Given the description of an element on the screen output the (x, y) to click on. 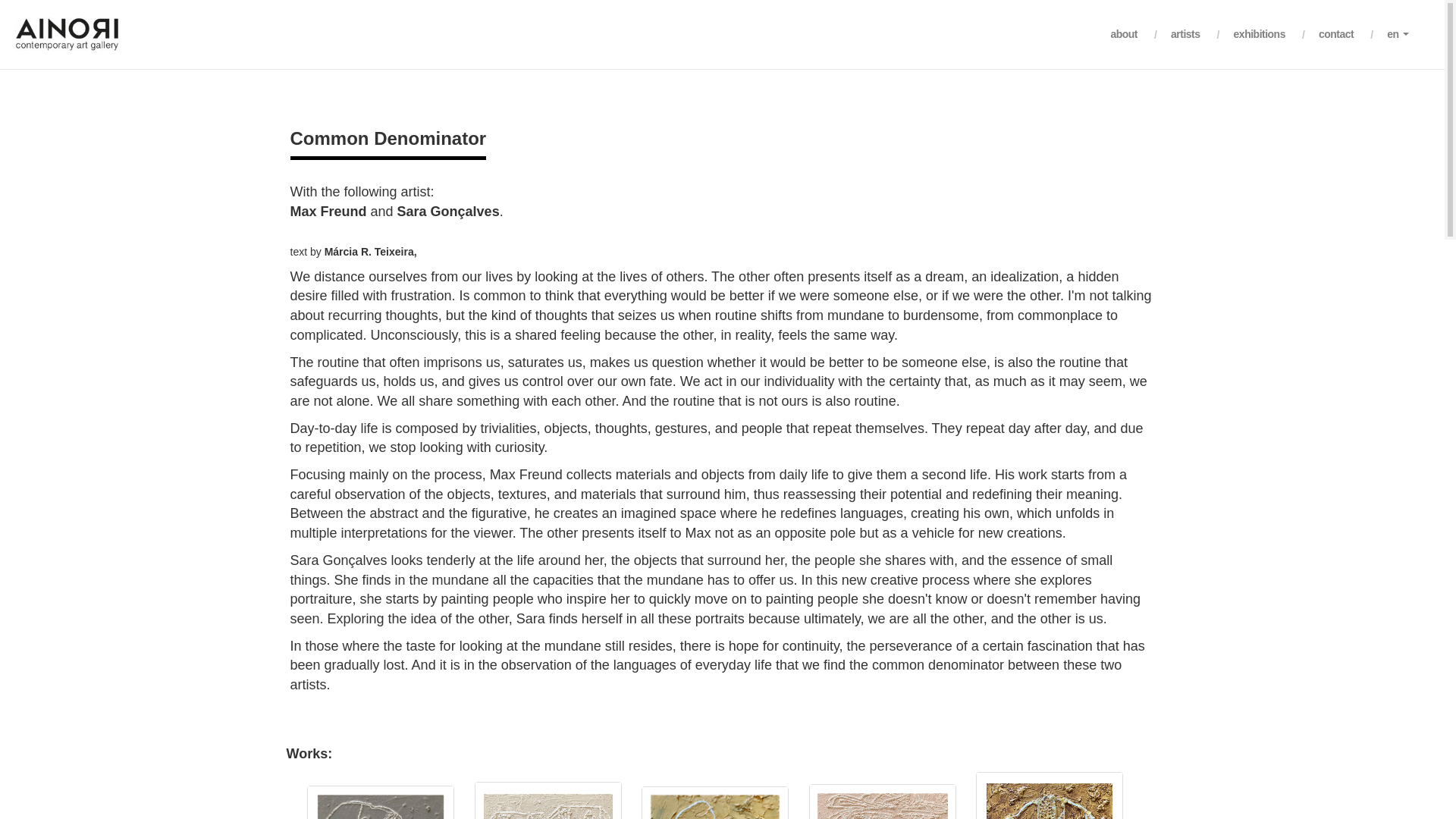
about (1123, 33)
artists (1185, 33)
exhibitions (1258, 33)
en (1397, 33)
contact (1336, 33)
